Given the description of an element on the screen output the (x, y) to click on. 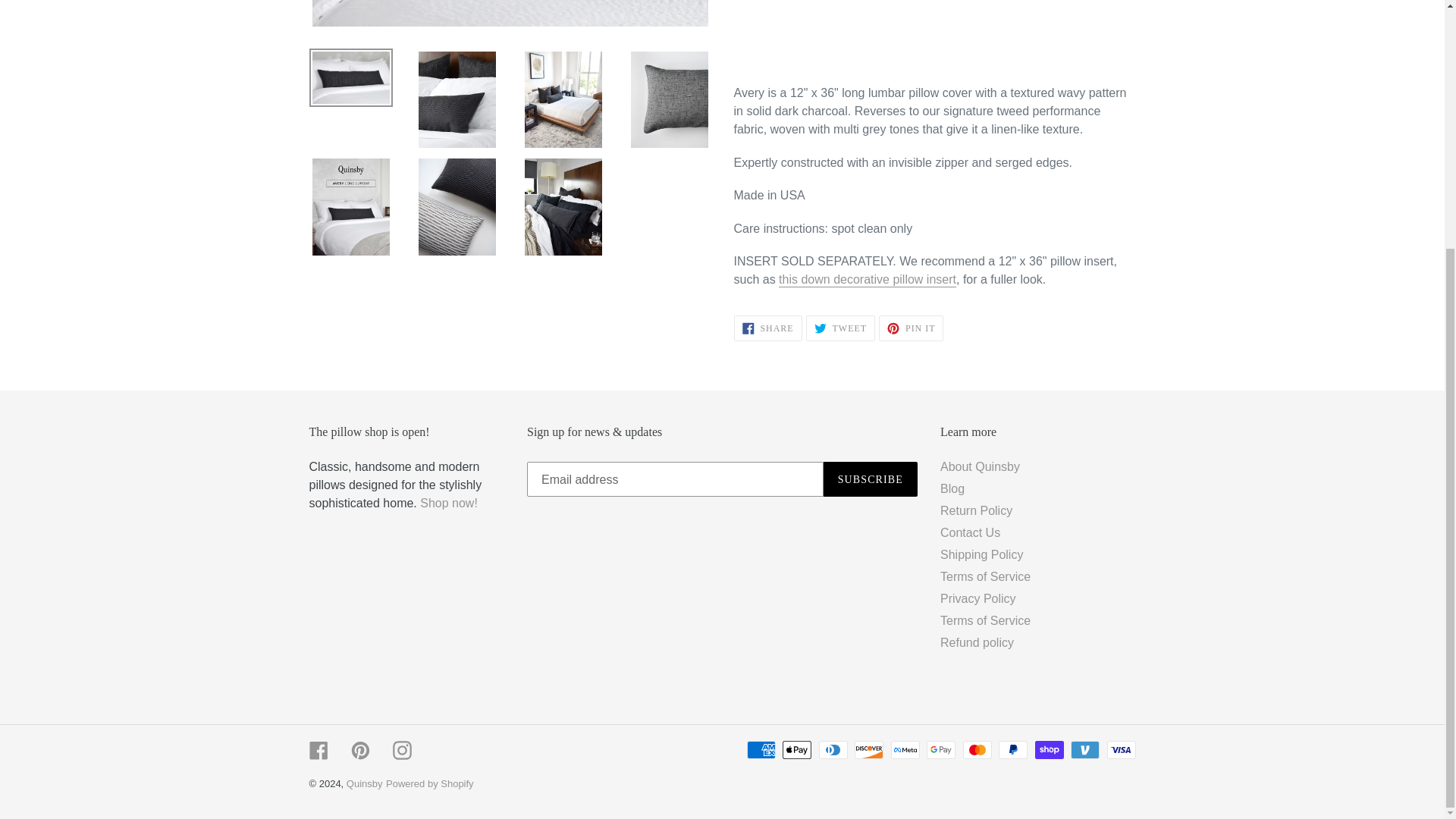
this down decorative pillow insert (767, 328)
SUBSCRIBE (867, 279)
Shop now! (870, 478)
All Collections (448, 502)
